Given the description of an element on the screen output the (x, y) to click on. 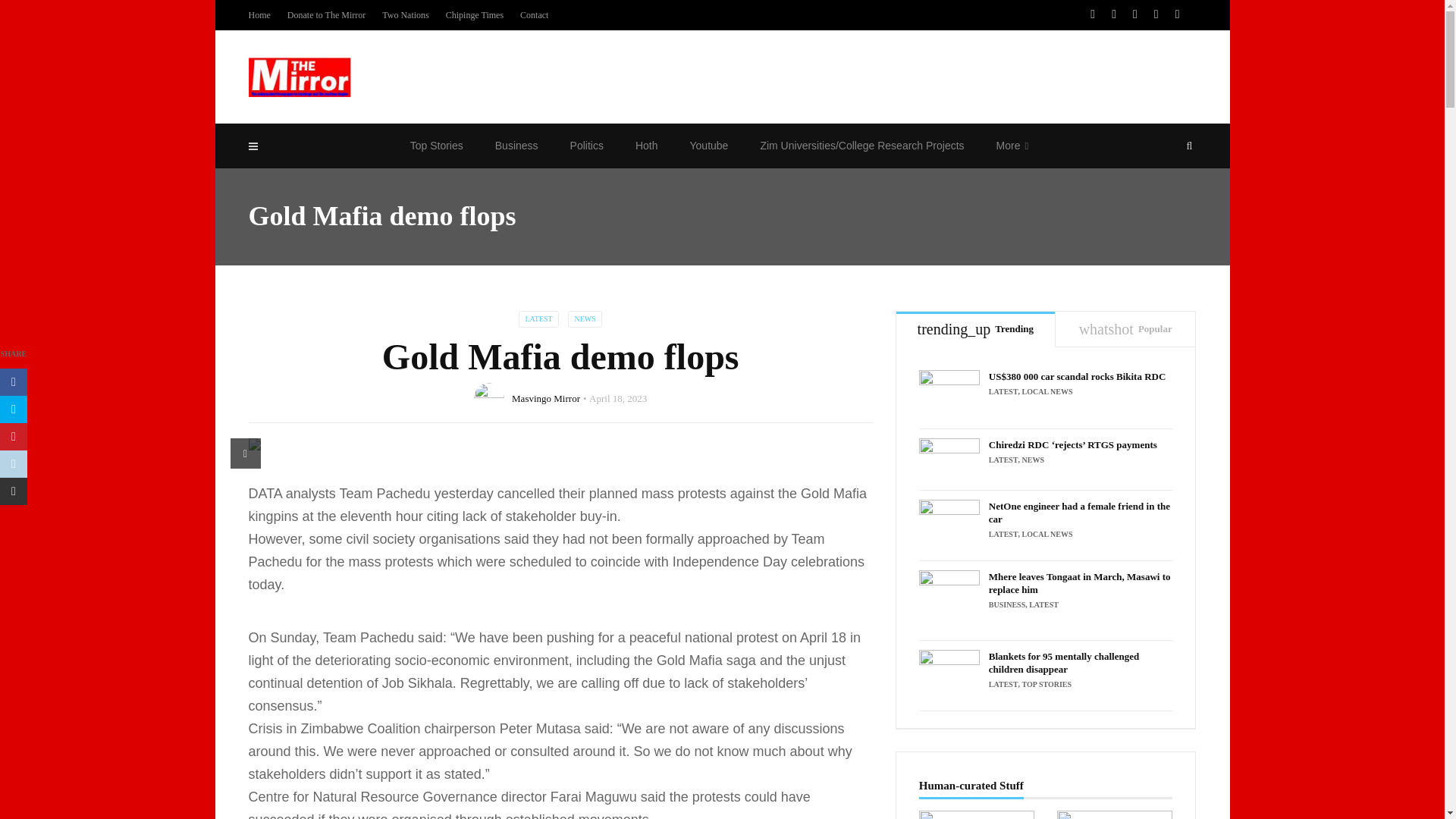
More (1015, 145)
Hoth (647, 145)
More (1015, 145)
Youtube (709, 145)
Politics (587, 145)
Top Stories (436, 145)
Business (516, 145)
